Given the description of an element on the screen output the (x, y) to click on. 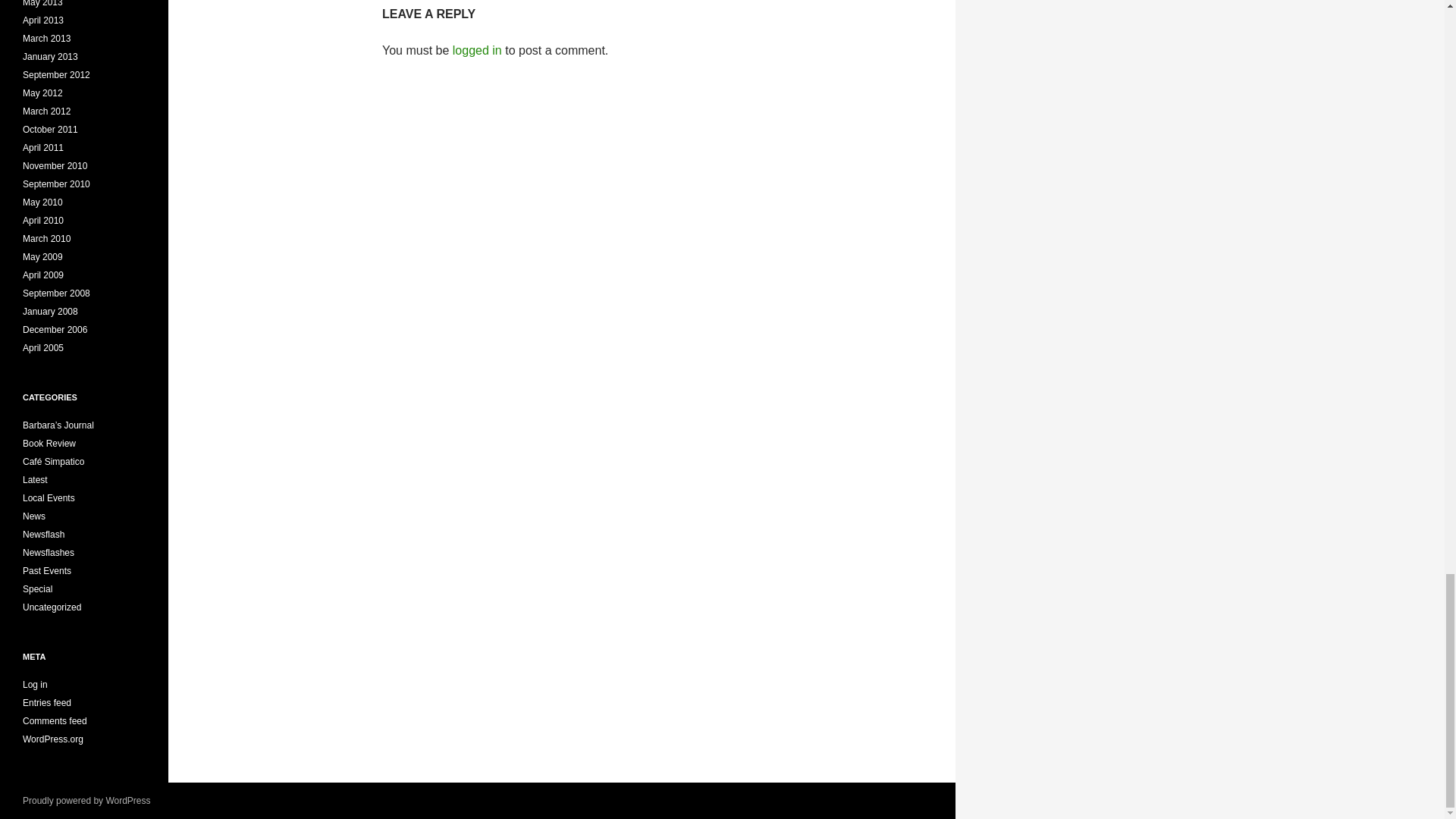
logged in (477, 50)
